Given the description of an element on the screen output the (x, y) to click on. 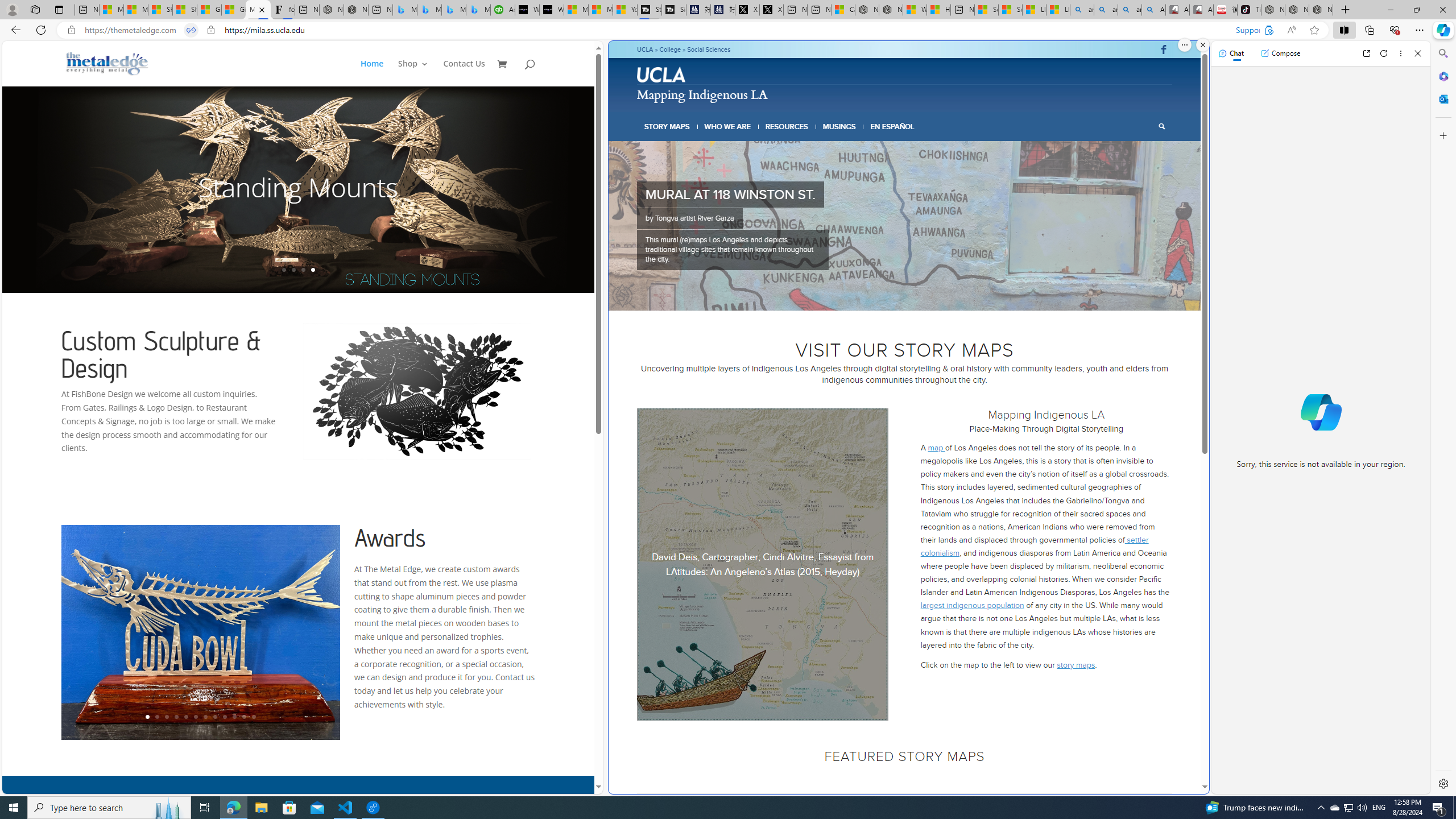
1 (871, 296)
UCLA logo (661, 74)
Microsoft 365 (1442, 76)
story maps (1075, 664)
Chat (1231, 52)
3 (890, 296)
Nordace - Siena Pro 15 Essential Set (1321, 9)
Customize (1442, 135)
 settler colonialism (1034, 545)
Tabs in split screen (190, 29)
